Given the description of an element on the screen output the (x, y) to click on. 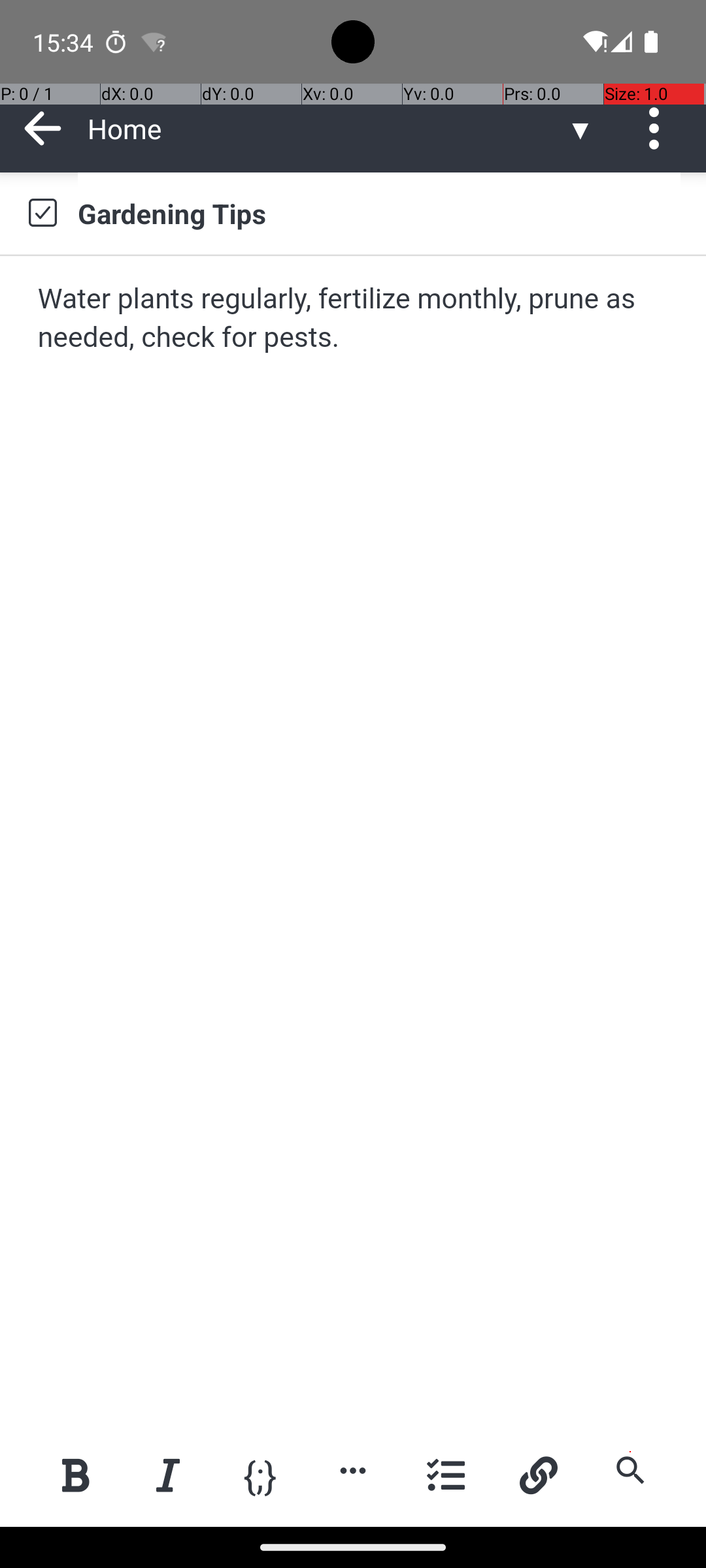
Water plants regularly, fertilize monthly, prune as needed, check for pests. Element type: android.widget.EditText (354, 318)
